Given the description of an element on the screen output the (x, y) to click on. 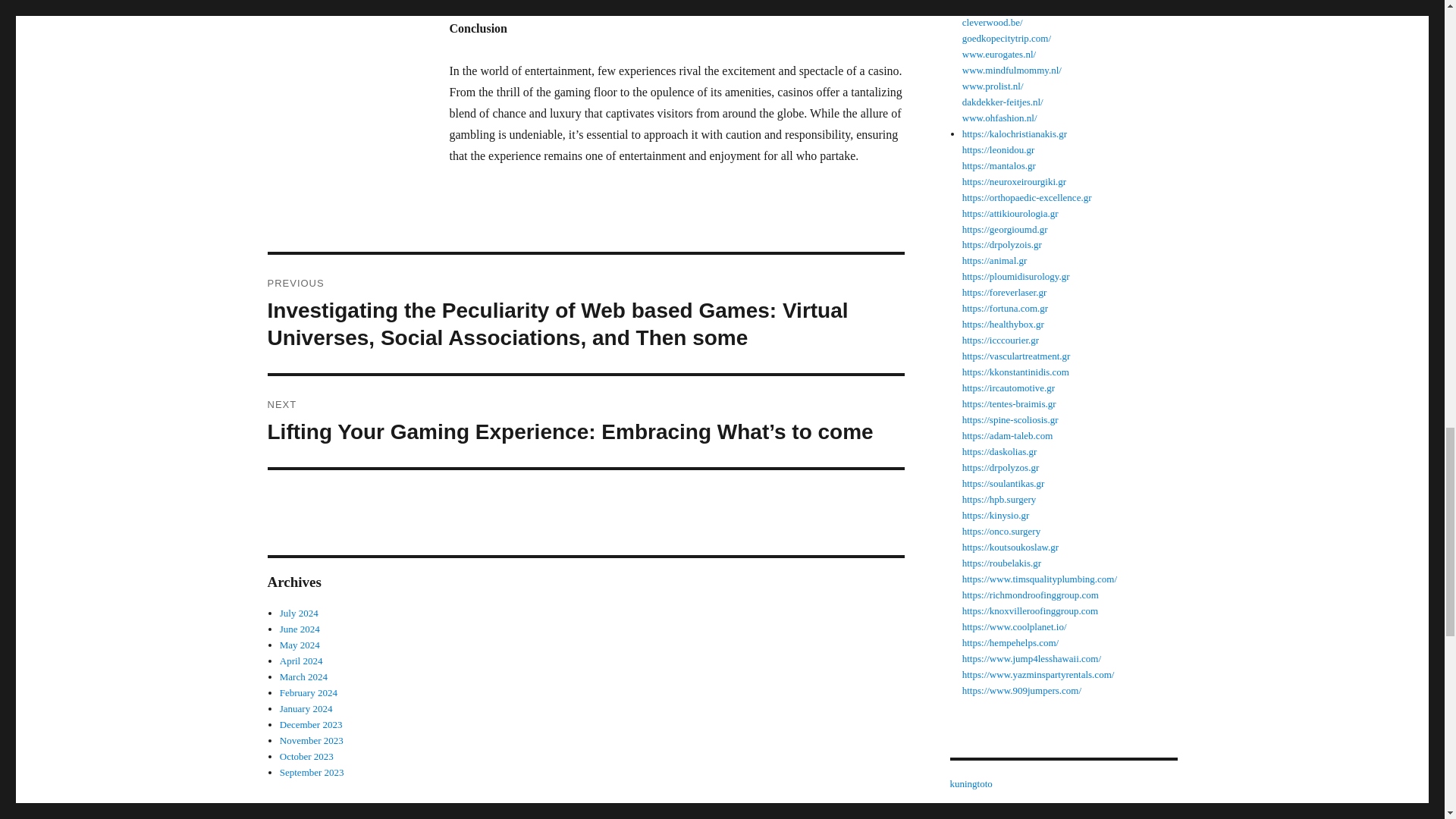
December 2023 (310, 724)
June 2024 (299, 628)
February 2024 (308, 692)
January 2024 (306, 708)
May 2024 (299, 644)
March 2024 (303, 676)
September 2023 (311, 772)
July 2024 (298, 613)
April 2024 (301, 660)
October 2023 (306, 756)
November 2023 (311, 740)
